Given the description of an element on the screen output the (x, y) to click on. 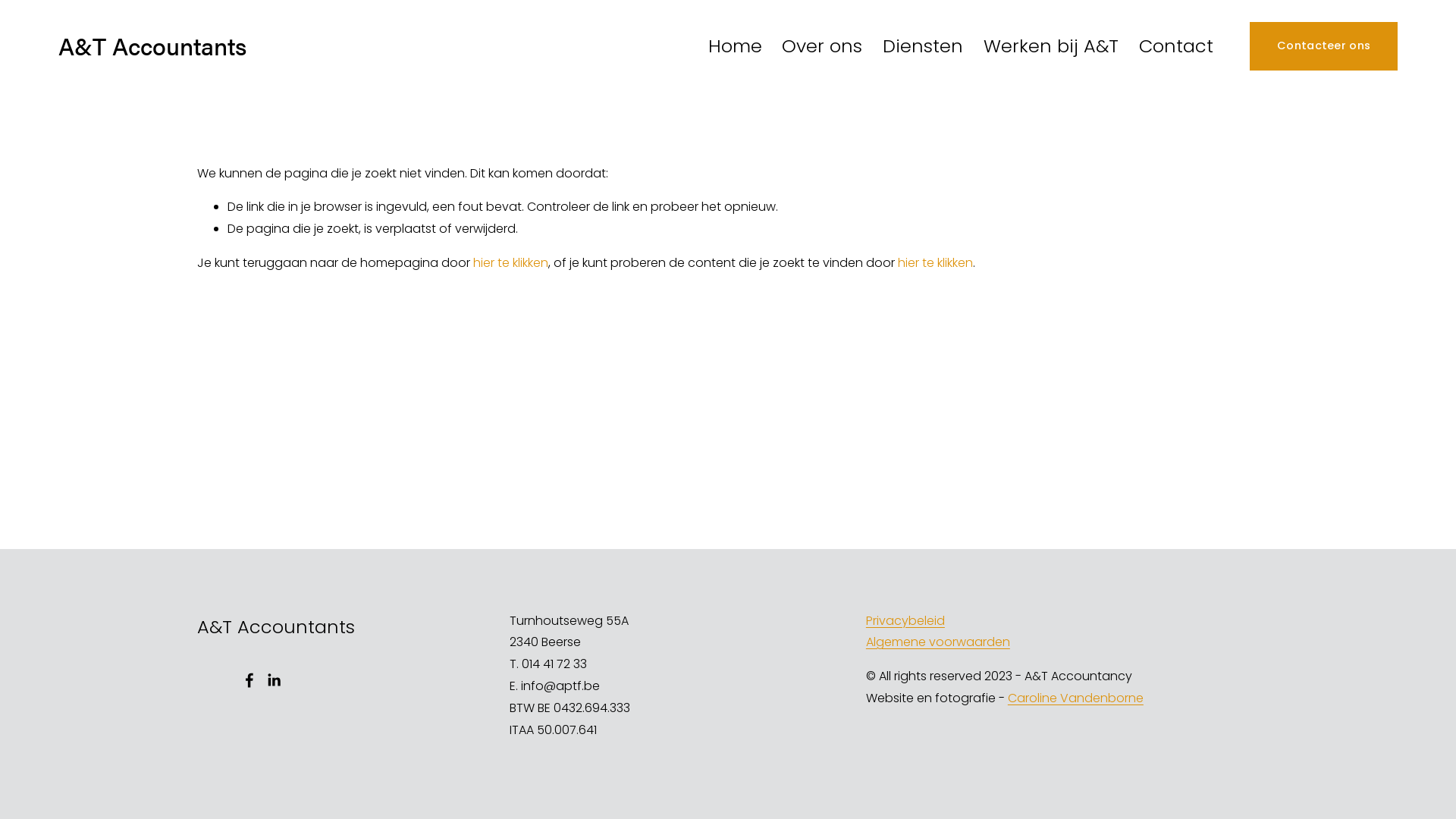
hier te klikken Element type: text (510, 262)
hier te klikken Element type: text (934, 262)
Werken bij A&T Element type: text (1050, 46)
Caroline Vandenborne Element type: text (1075, 698)
Over ons Element type: text (821, 46)
Contacteer ons Element type: text (1323, 45)
Home Element type: text (735, 46)
Privacybeleid Element type: text (905, 621)
Algemene voorwaarden Element type: text (938, 642)
A&T Accountants Element type: text (152, 45)
Diensten Element type: text (922, 46)
Contact Element type: text (1176, 46)
